Given the description of an element on the screen output the (x, y) to click on. 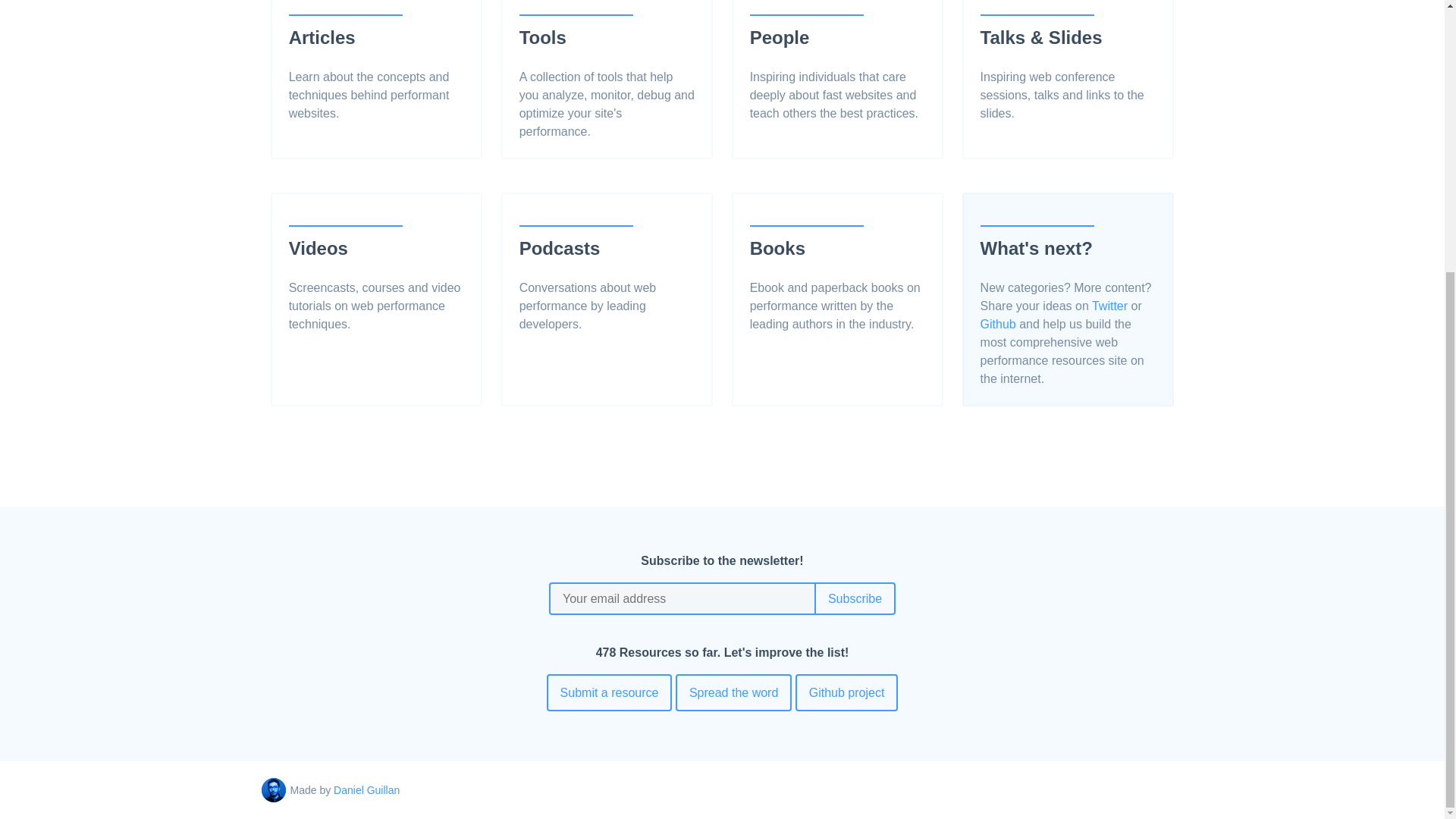
A list of web performance analysis and optimization tools (607, 77)
Subscribe (855, 598)
Share Perf.Rocks with others on Twitter (733, 692)
Submit a resource (609, 692)
Twitter (1109, 305)
Github project (846, 692)
Submit a front-end web performance resource to Perf.Rocks (609, 692)
A list of web performance optimization books (837, 279)
Subscribe (855, 598)
Spread the word (733, 692)
